Given the description of an element on the screen output the (x, y) to click on. 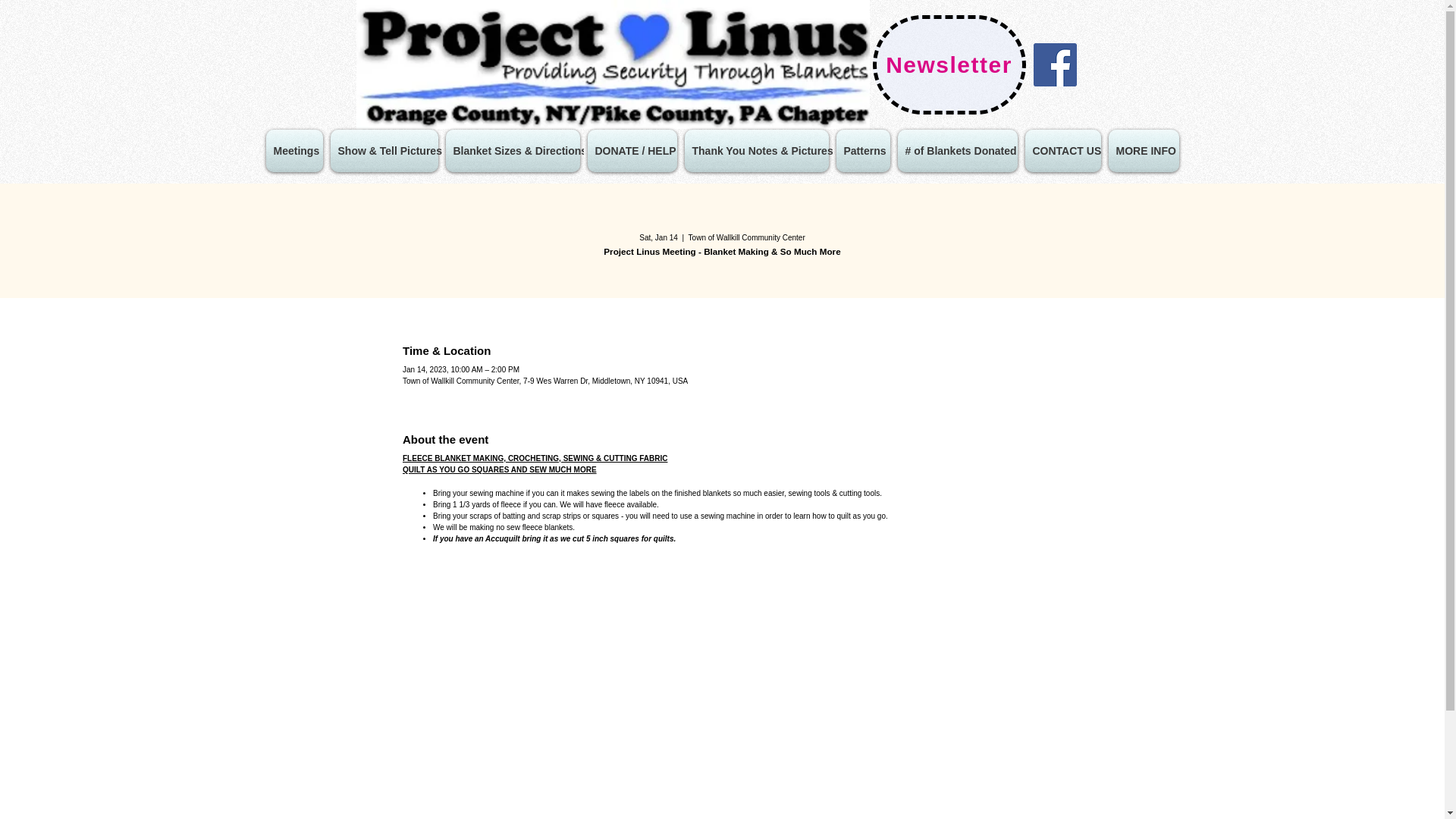
MORE INFO (1142, 150)
Patterns (862, 150)
Meetings (294, 150)
CONTACT US (1061, 150)
Newsletter (948, 64)
